Given the description of an element on the screen output the (x, y) to click on. 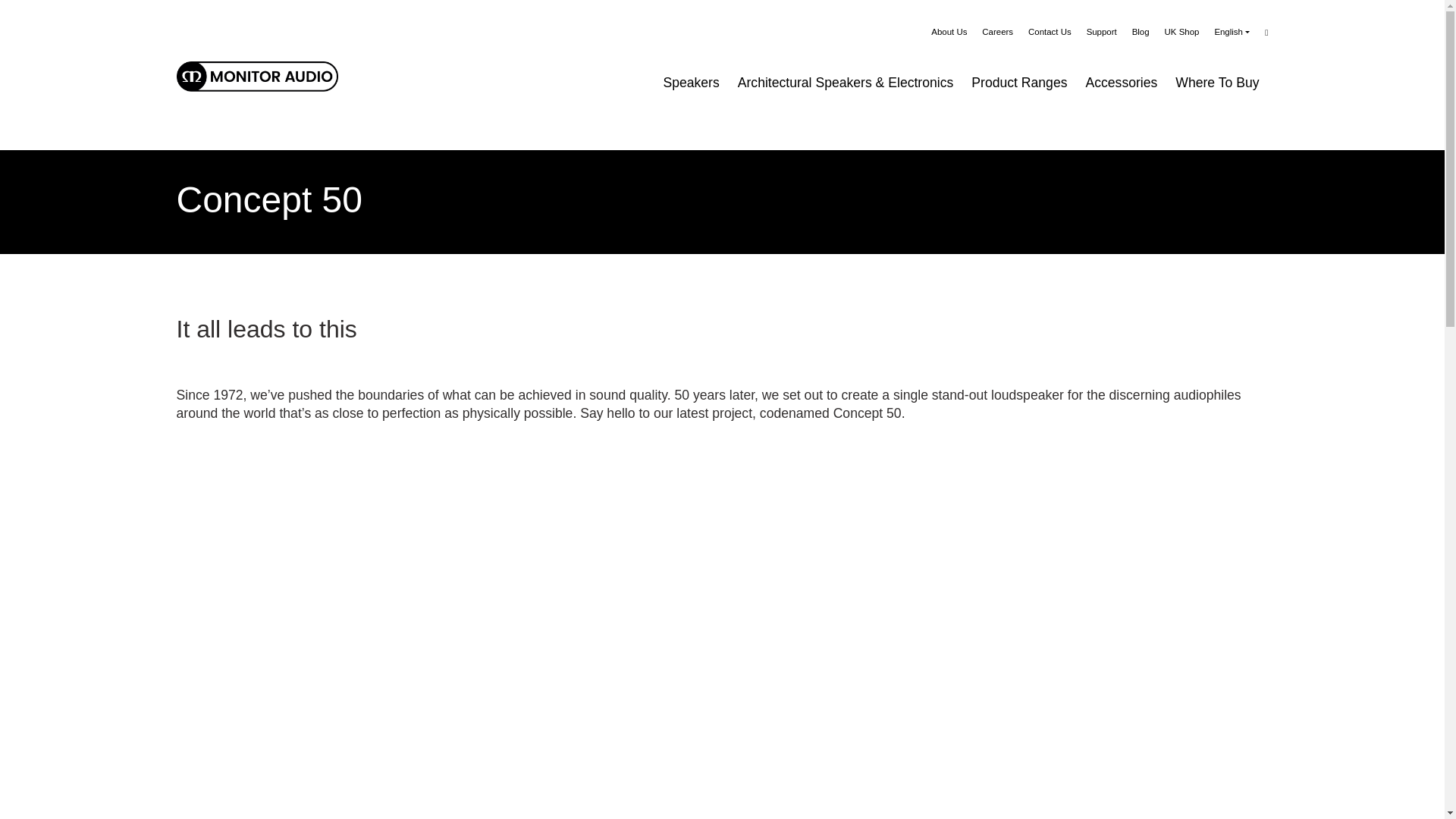
Product Ranges (1018, 82)
Careers (997, 32)
Where To Buy (1217, 82)
Accessories (1120, 82)
Blog (1141, 32)
Product Ranges (1018, 82)
English (1231, 32)
Contact Us (1049, 32)
Speakers (690, 82)
UK Shop (1181, 32)
About Us (948, 32)
Support (1101, 32)
Speakers (690, 82)
